Given the description of an element on the screen output the (x, y) to click on. 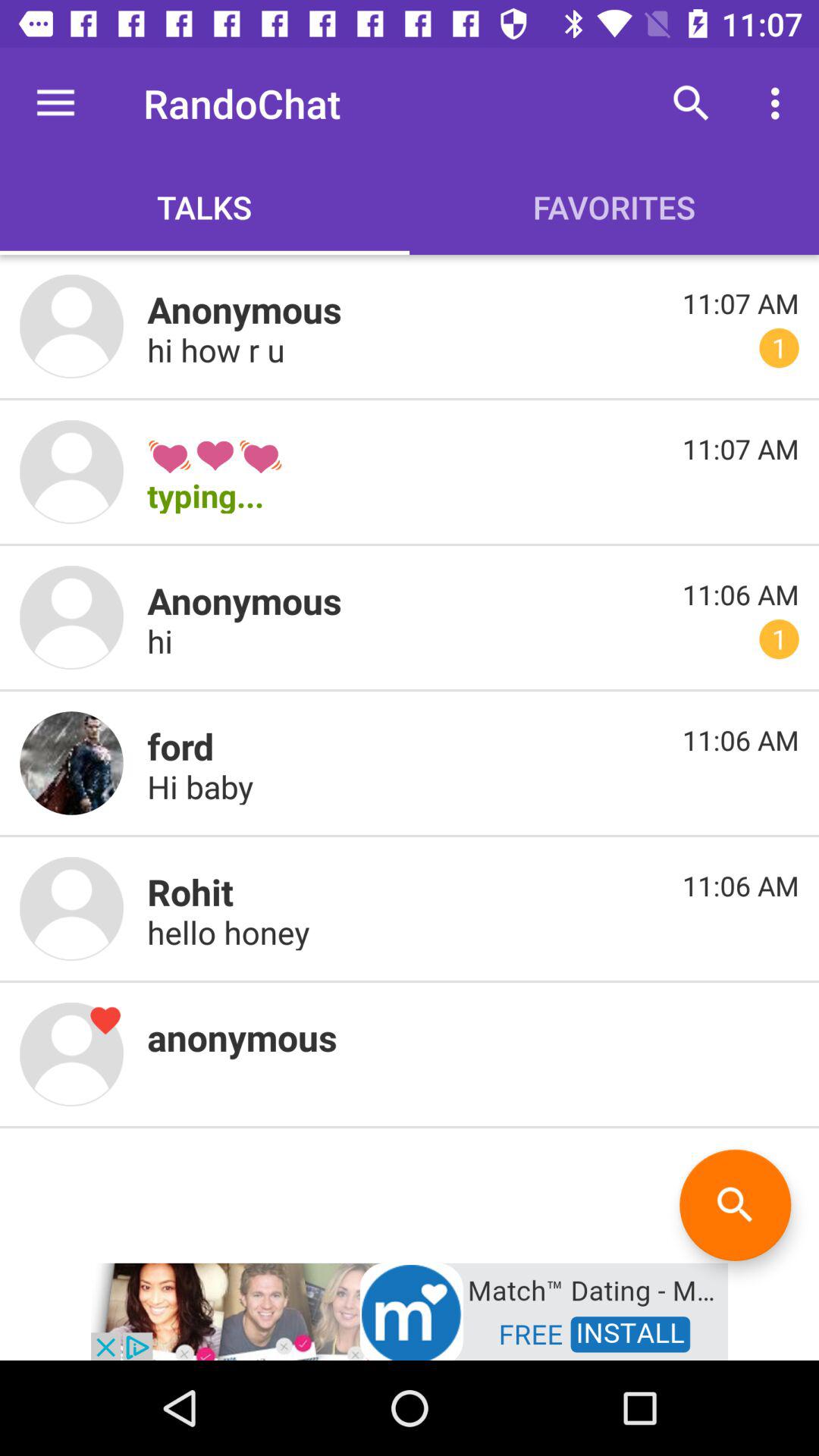
see photo (71, 471)
